Given the description of an element on the screen output the (x, y) to click on. 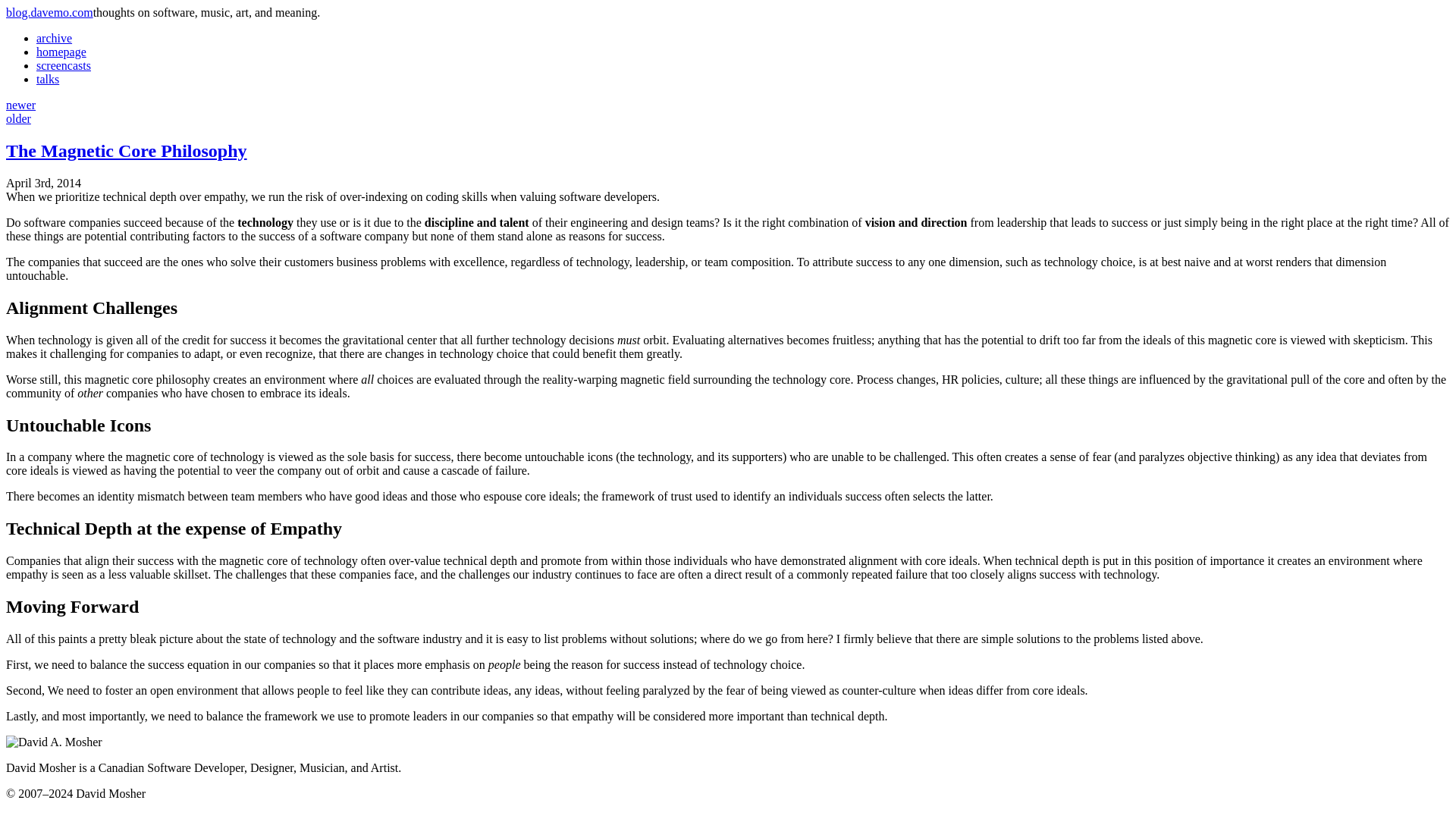
blog.davemo.com (49, 11)
screencasts (63, 65)
homepage (60, 51)
older (17, 118)
The Magnetic Core Philosophy (126, 150)
newer (19, 104)
archive (53, 38)
talks (47, 78)
